Given the description of an element on the screen output the (x, y) to click on. 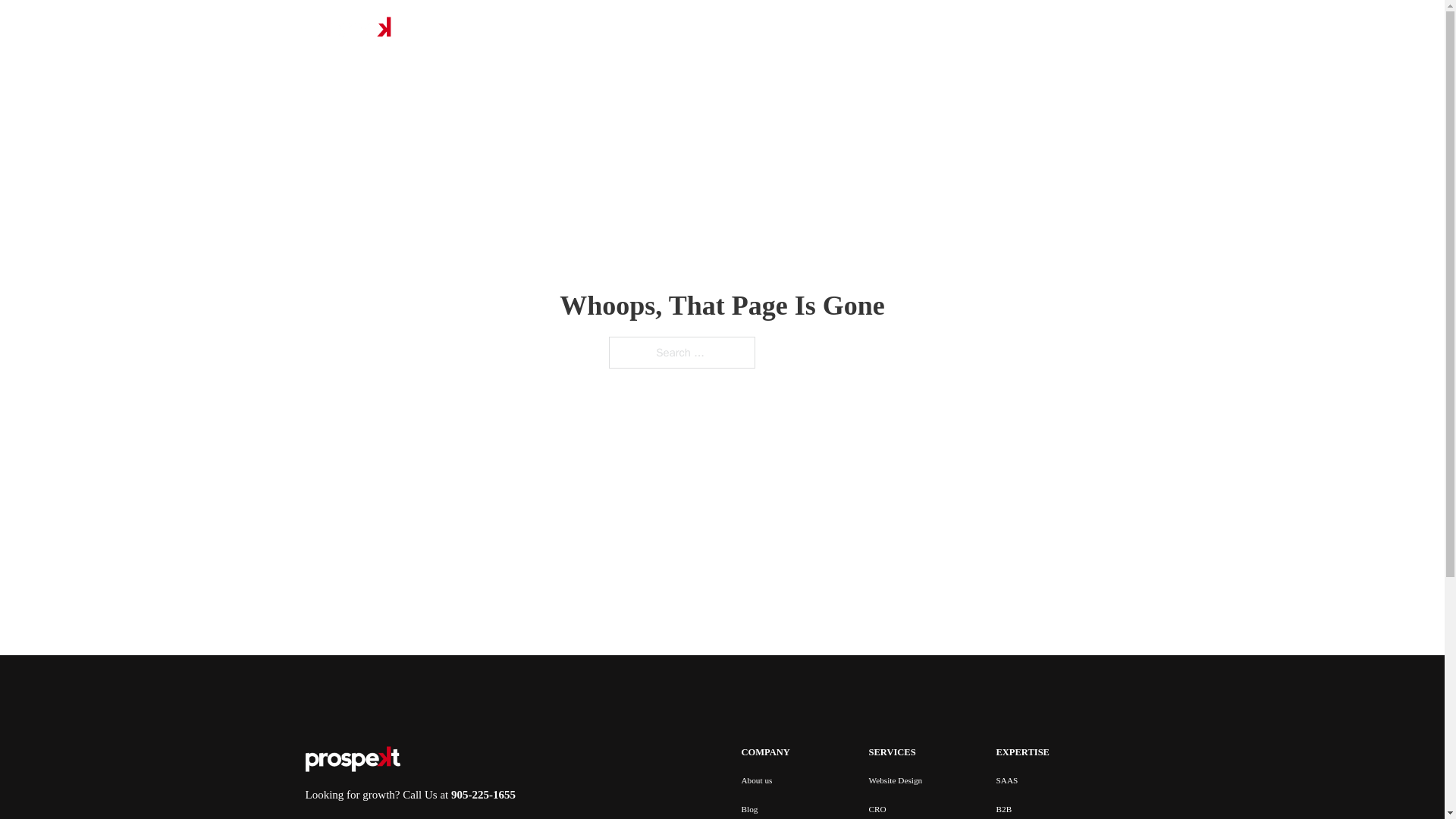
Blog (744, 30)
Reviews (792, 30)
Work (685, 30)
Home (564, 30)
Solutions (616, 30)
